Given the description of an element on the screen output the (x, y) to click on. 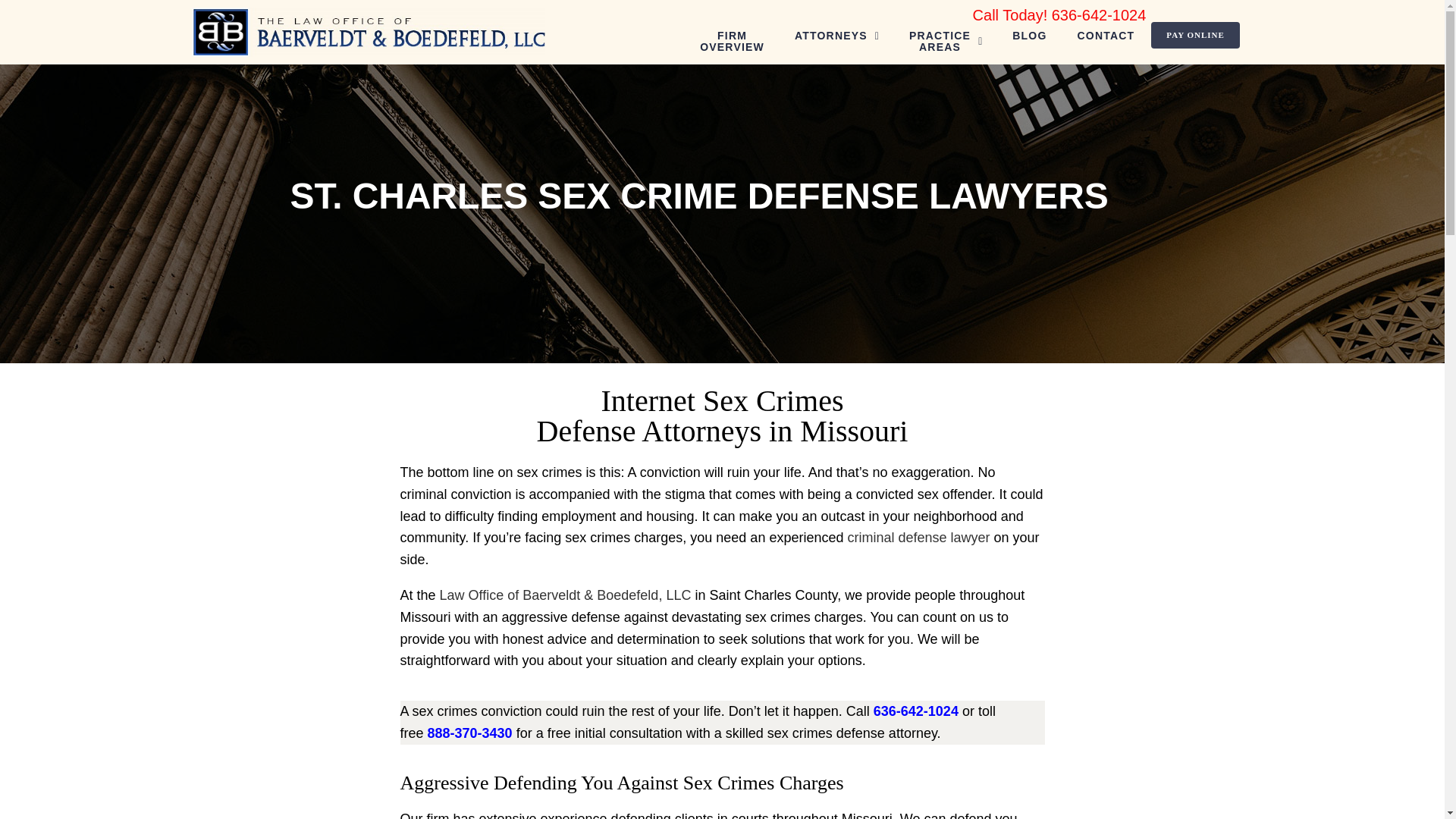
Pay Online (1195, 34)
CONTACT (944, 41)
criminal defense lawyer (1105, 35)
Pay Online (918, 537)
BLOG (1195, 34)
Call Today! 636-642-1024 (1028, 35)
ATTORNEYS (1059, 14)
888-370-3430 (836, 35)
636-642-1024 (470, 733)
